Given the description of an element on the screen output the (x, y) to click on. 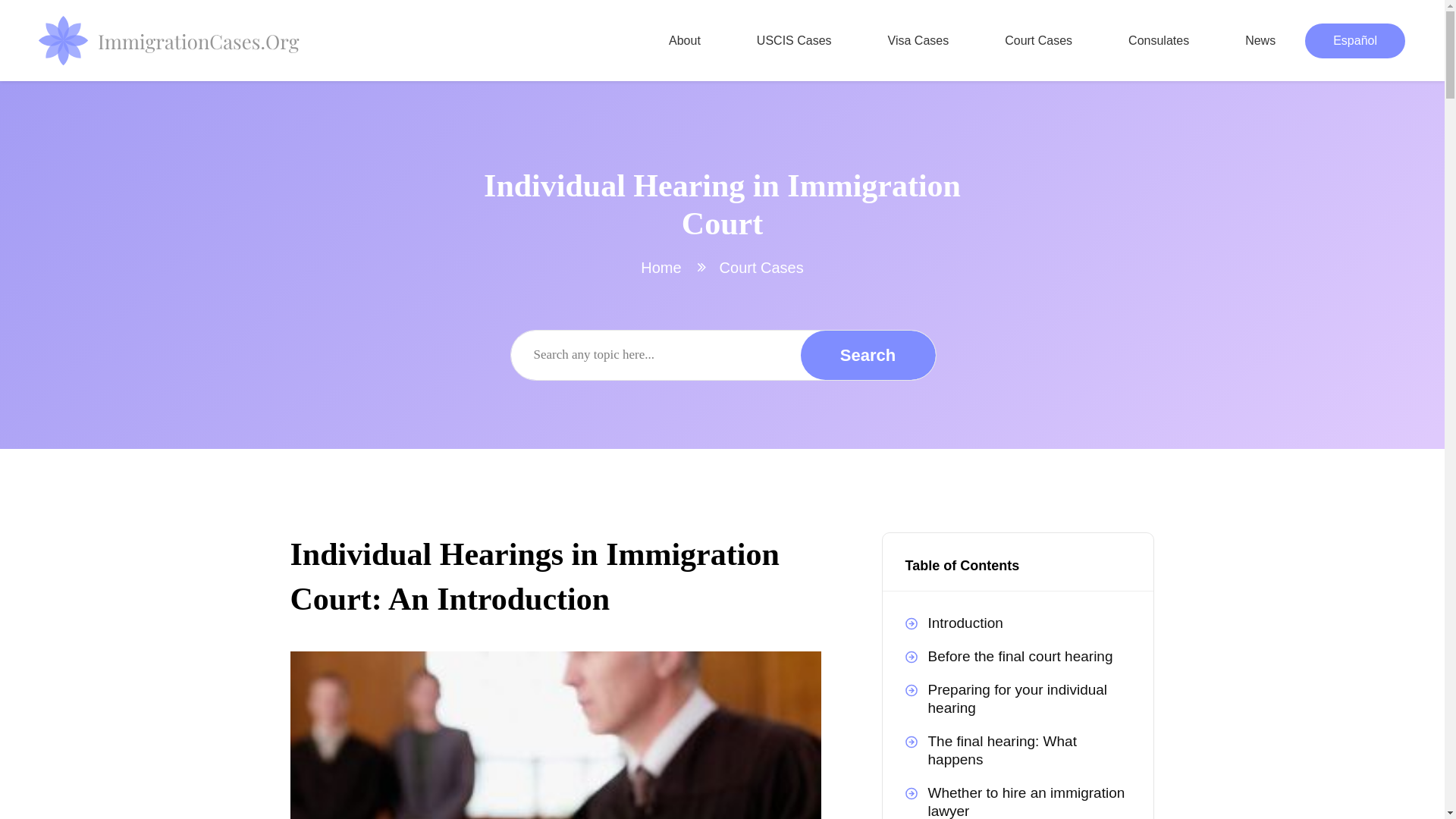
Consulates (1158, 40)
About (684, 40)
Preparing for your individual hearing (1018, 698)
individual hearing (555, 735)
News (1259, 40)
Introduction (1018, 622)
The final hearing: What happens (1018, 750)
USCIS Cases (794, 40)
Whether to hire an immigration lawyer (1018, 797)
Court Cases (761, 267)
Court Cases (1038, 40)
Home (660, 267)
Before the final court hearing (1018, 656)
Visa Cases (918, 40)
